Given the description of an element on the screen output the (x, y) to click on. 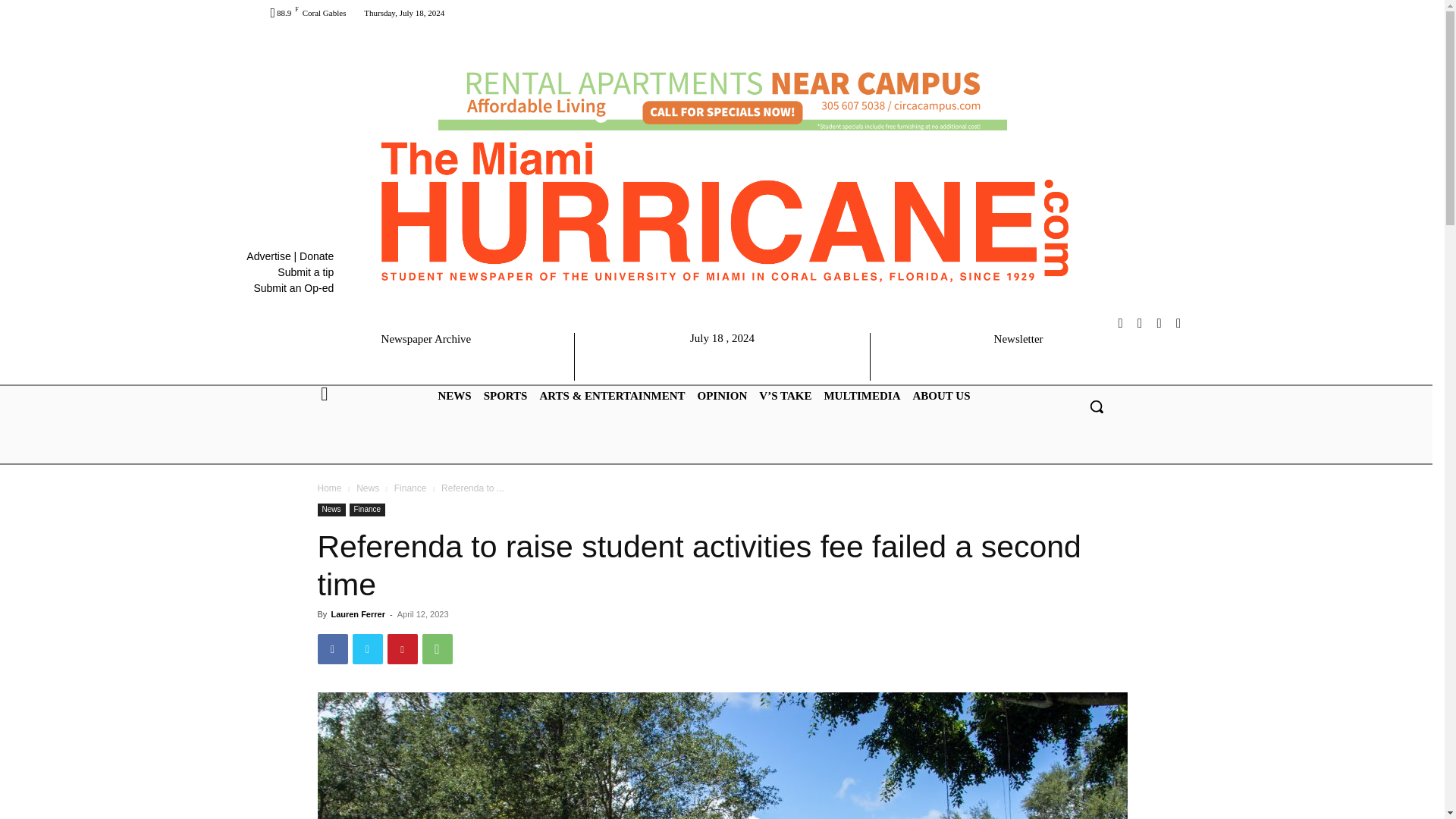
Instagram (1120, 323)
